Given the description of an element on the screen output the (x, y) to click on. 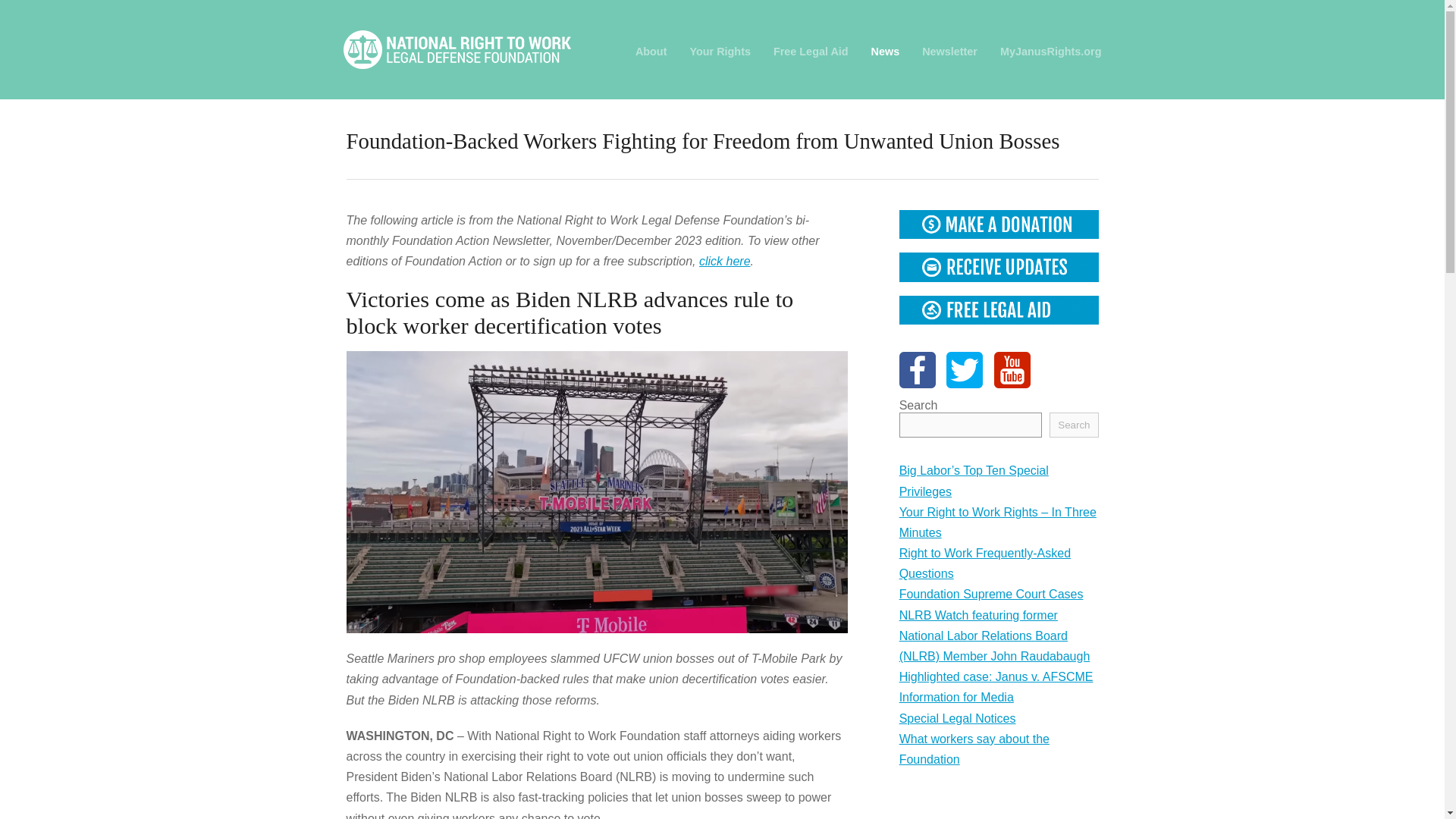
Newsletter (948, 51)
Your Rights (718, 51)
Information for Media (956, 697)
Right to Work Frequently-Asked Questions (984, 563)
News (884, 51)
Free Legal Aid (810, 51)
Special Legal Notices (957, 717)
Search (1073, 424)
click here (724, 260)
What workers say about the Foundation (974, 748)
MyJanusRights.org (1051, 51)
Foundation Supreme Court Cases (991, 594)
About (650, 51)
